Given the description of an element on the screen output the (x, y) to click on. 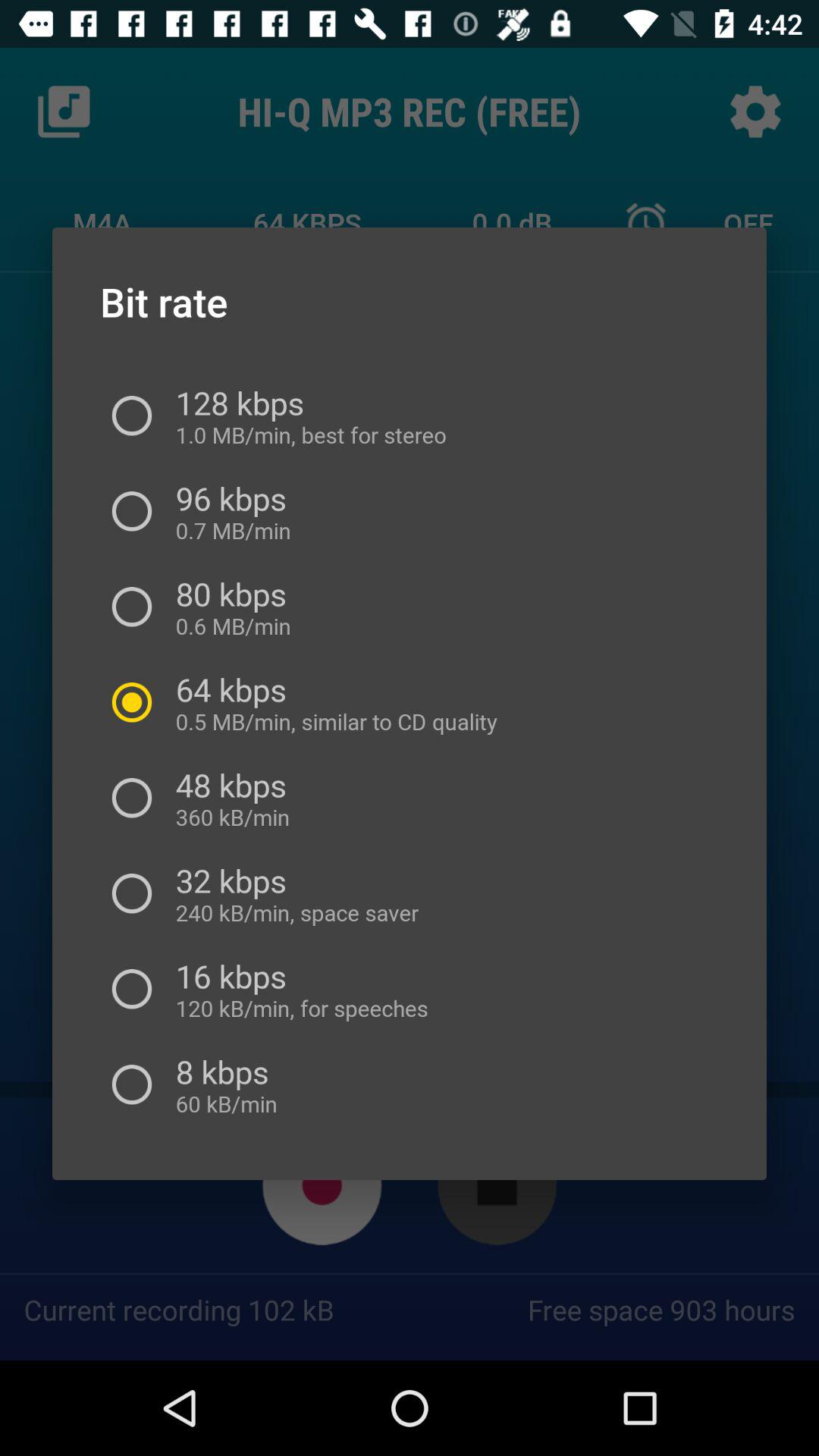
flip to 8 kbps 60 item (221, 1084)
